Given the description of an element on the screen output the (x, y) to click on. 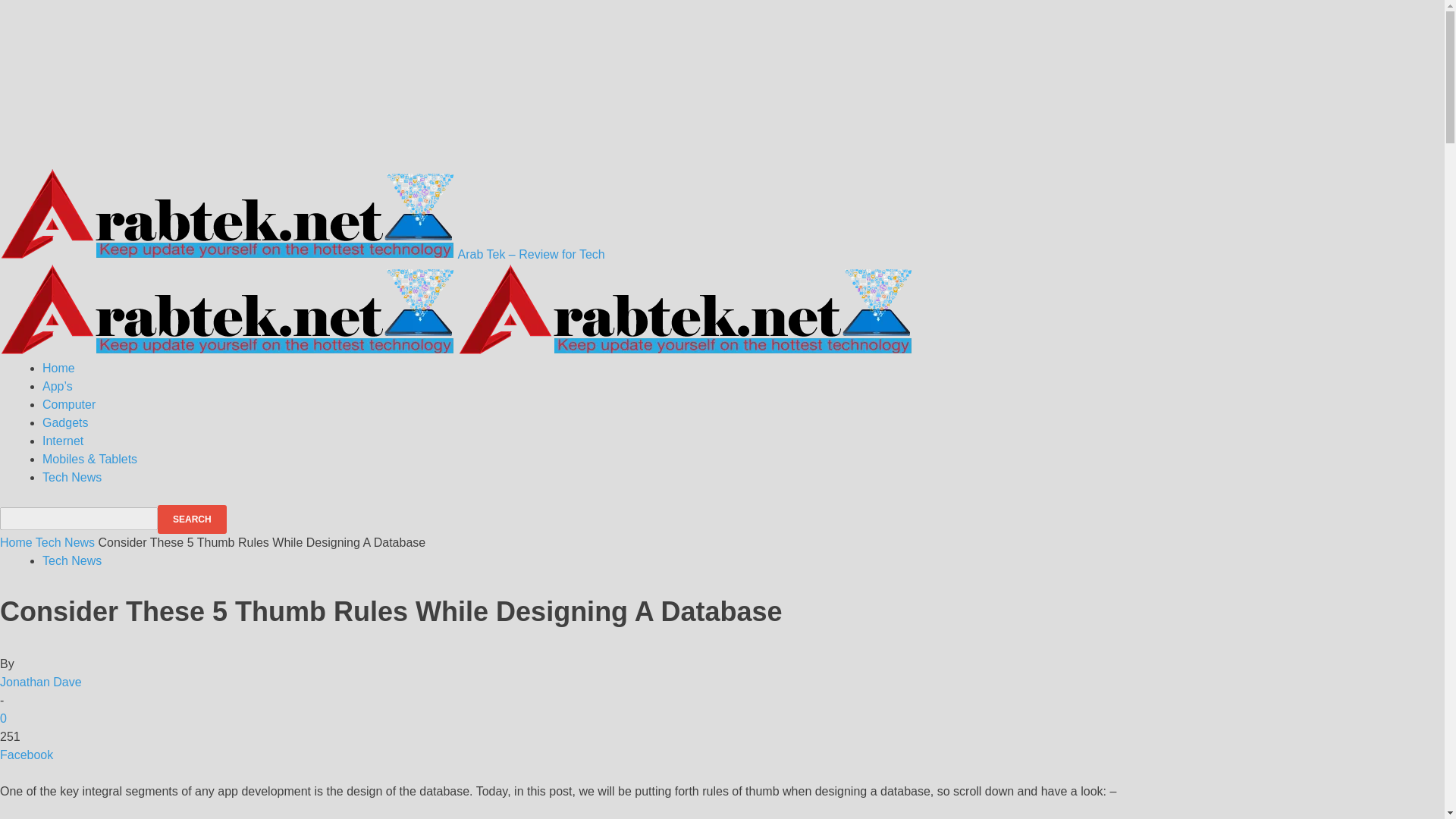
Home (16, 542)
Search (192, 519)
Tech News (64, 542)
Tech News (71, 560)
Internet (62, 440)
Home (58, 367)
Computer (69, 404)
Search (192, 519)
View all posts in Tech News (64, 542)
Tech News (71, 477)
